Given the description of an element on the screen output the (x, y) to click on. 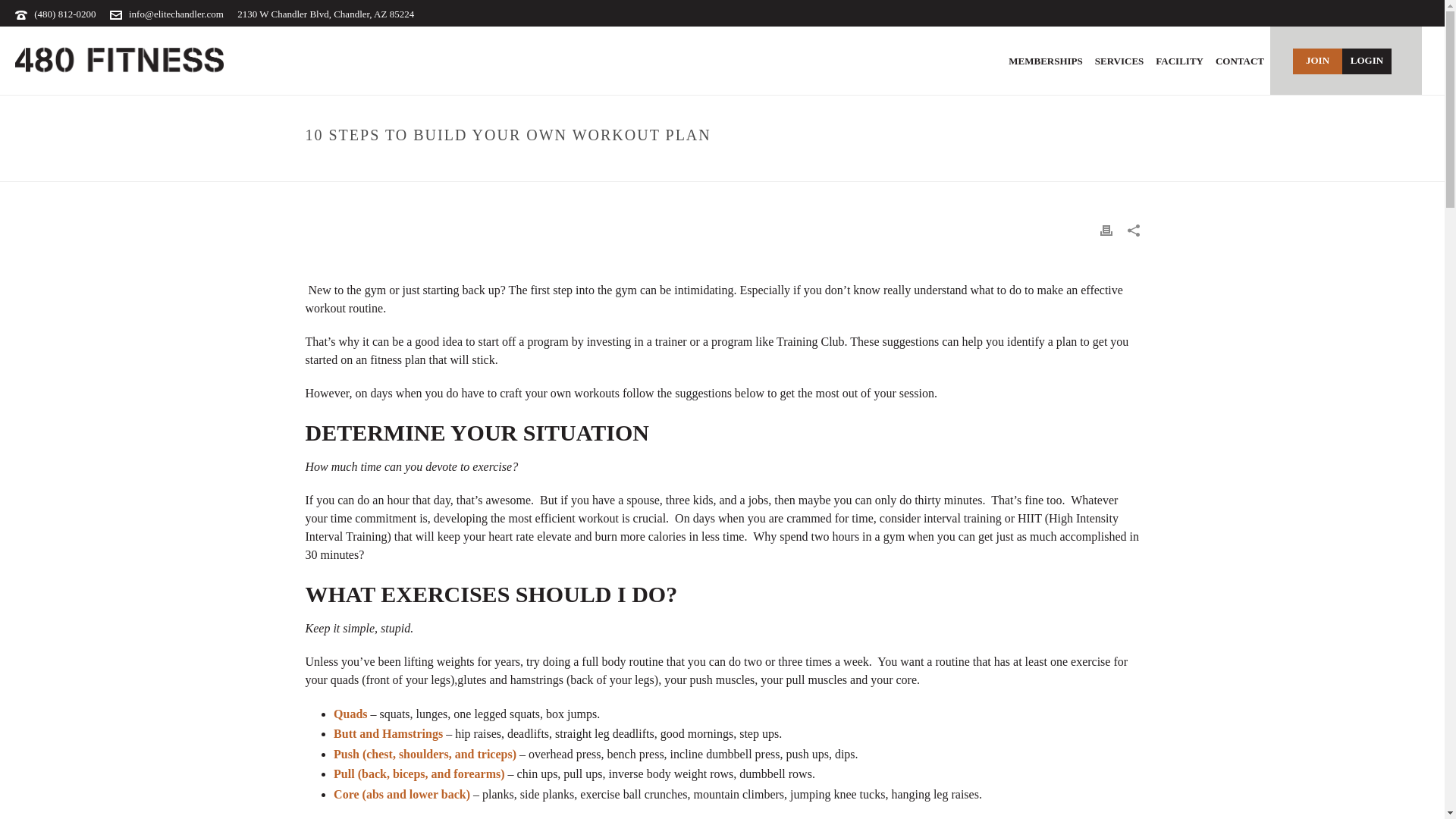
SERVICES (1119, 61)
FACILITY (1179, 61)
CONTACT (1239, 61)
CONTACT (1239, 61)
LOGIN (1366, 61)
JOIN (1317, 61)
FACILITY (1179, 61)
MEMBERSHIPS (1046, 61)
LOGIN (1366, 61)
MEMBERSHIPS (1046, 61)
SERVICES (1119, 61)
JOIN (1317, 61)
